Given the description of an element on the screen output the (x, y) to click on. 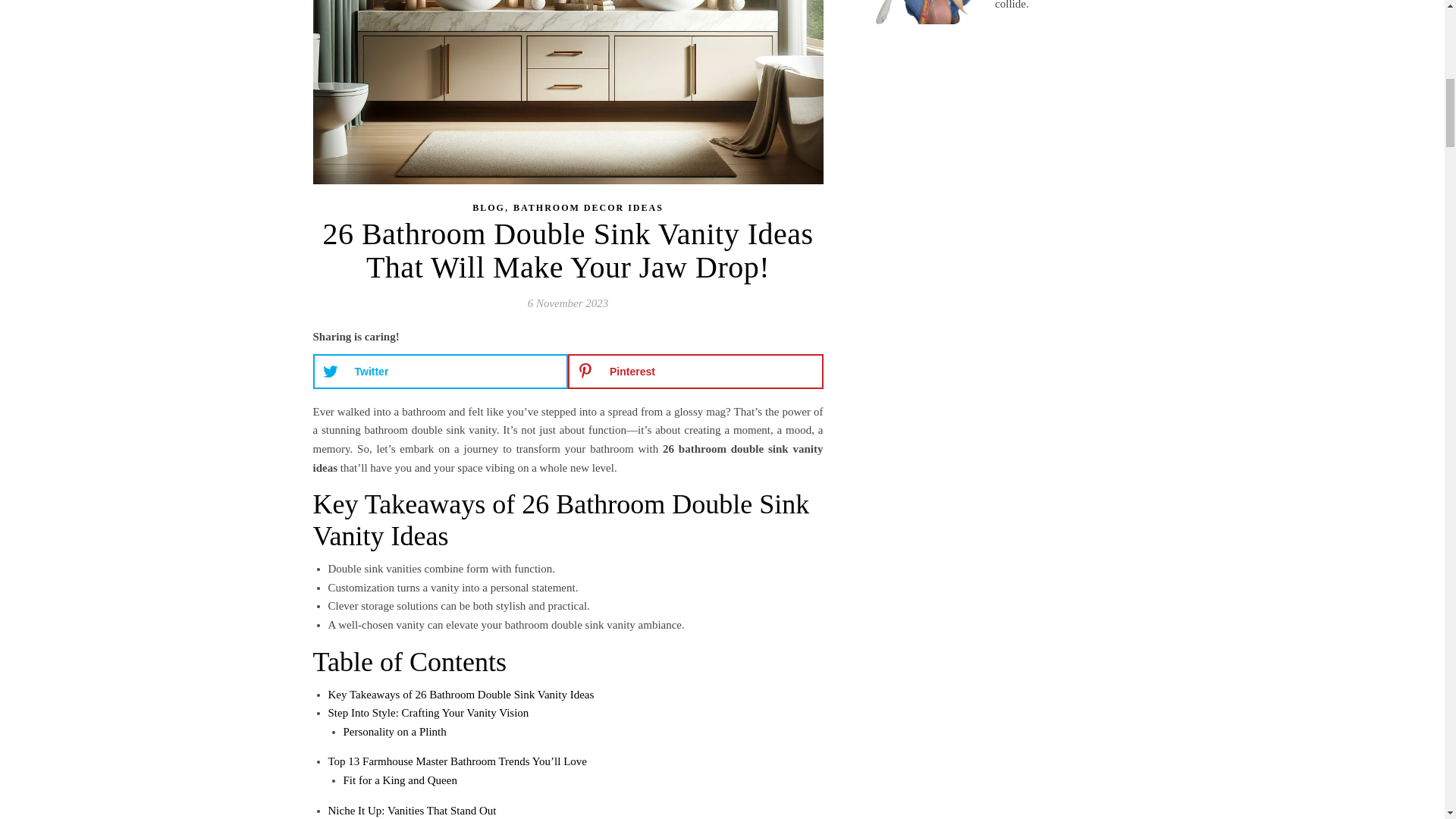
Step Into Style: Crafting Your Vanity Vision (427, 712)
BLOG (488, 208)
Share on Twitter (440, 371)
Key Takeaways of 26 Bathroom Double Sink Vanity Ideas (460, 694)
Pinterest (695, 371)
BATHROOM DECOR IDEAS (588, 208)
Save to Pinterest (695, 371)
Fit for a King and Queen (399, 779)
Niche It Up: Vanities That Stand Out (411, 809)
Personality on a Plinth (393, 731)
